Given the description of an element on the screen output the (x, y) to click on. 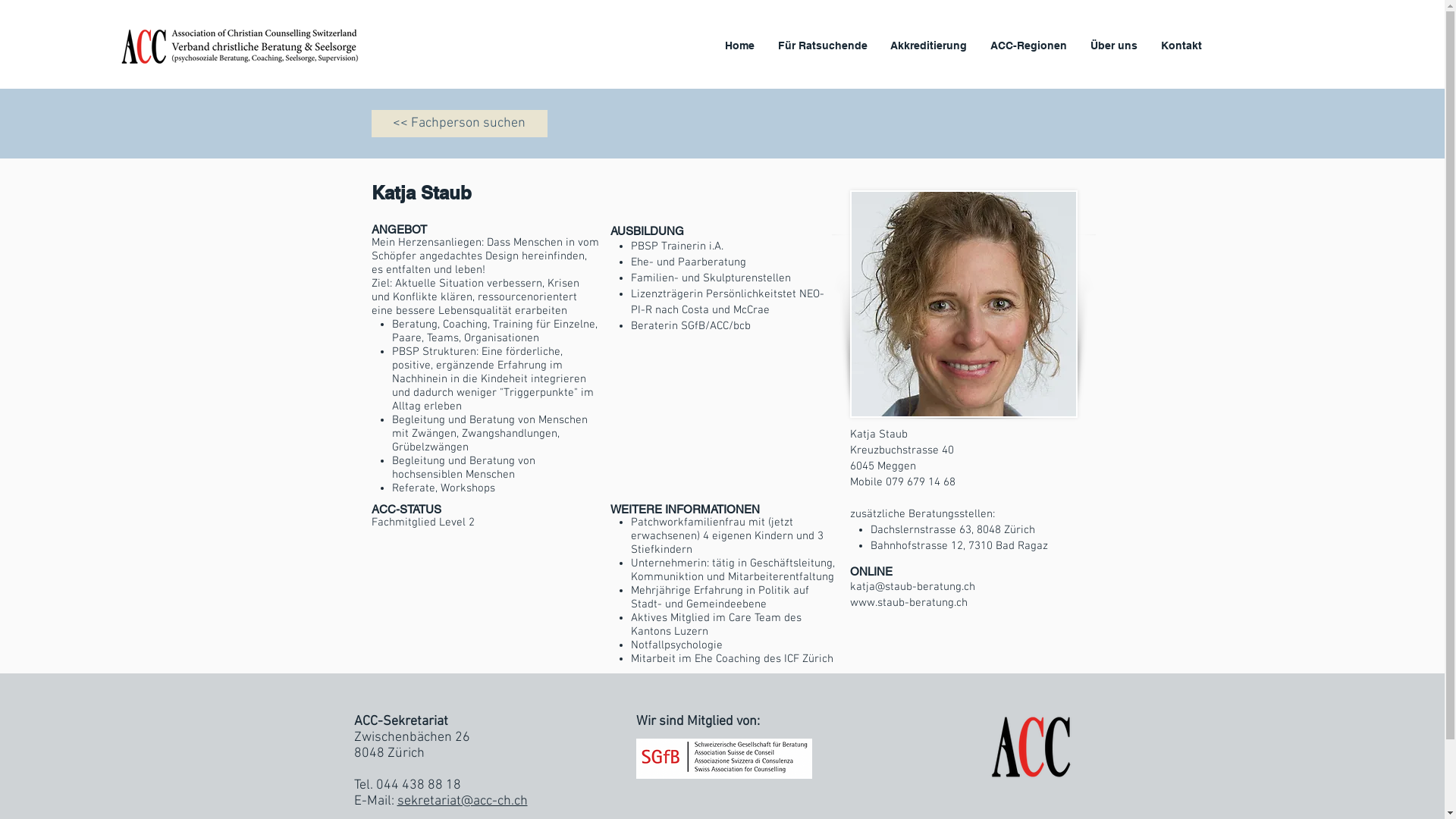
Kontakt Element type: text (1181, 45)
Deutsch Element type: hover (962, 303)
www.staub-beratung.ch Element type: text (907, 602)
Home Element type: text (739, 45)
ACC-Regionen Element type: text (1028, 45)
katja@staub-beratung.ch Element type: text (911, 586)
Akkreditierung Element type: text (928, 45)
sekretariat@acc-ch.ch Element type: text (462, 801)
<< Fachperson suchen Element type: text (459, 123)
